Given the description of an element on the screen output the (x, y) to click on. 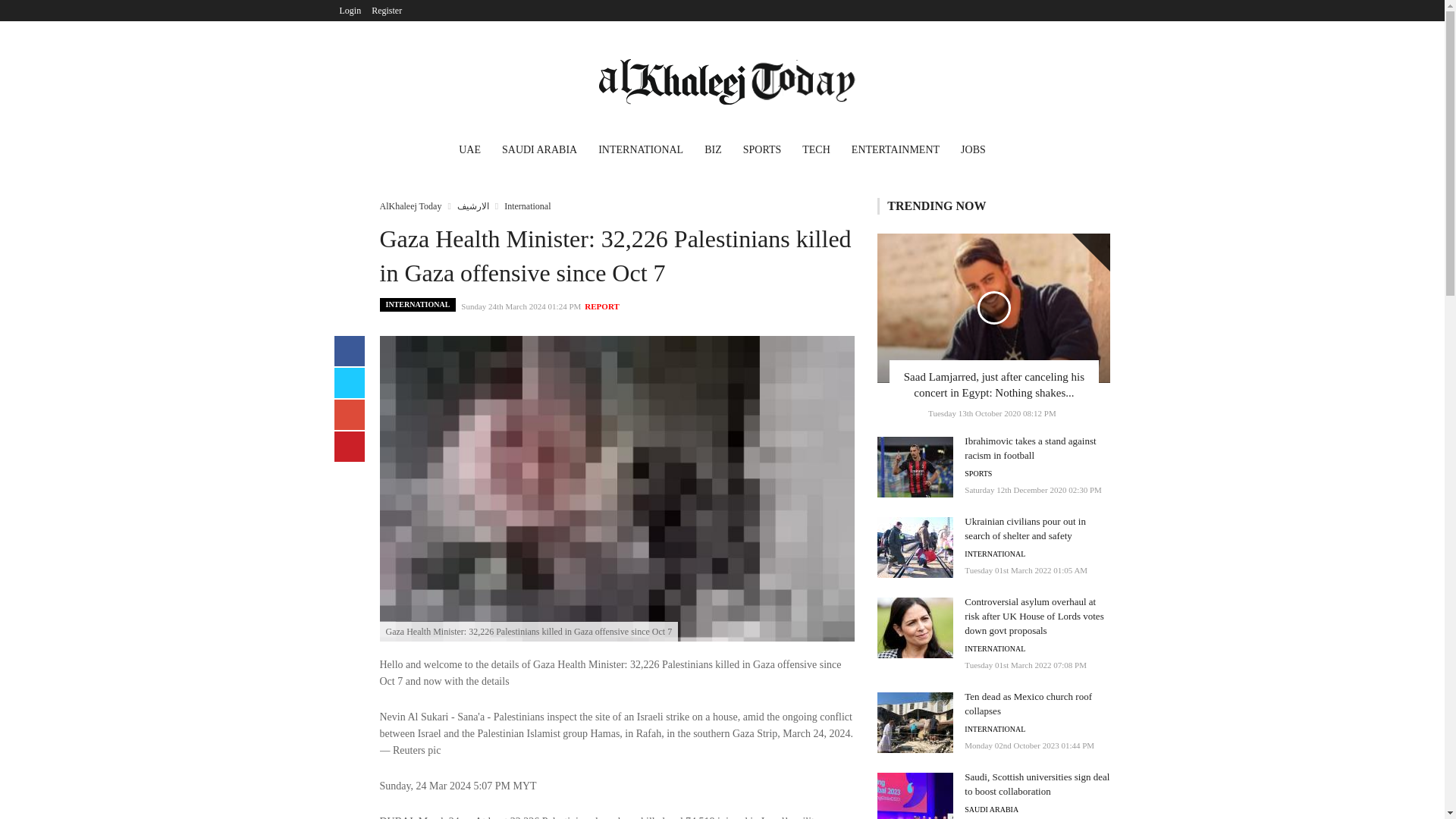
Login (349, 10)
TECH (816, 151)
REPORT (601, 306)
Register (386, 10)
JOBS (972, 151)
SPORTS (762, 151)
BIZ (713, 151)
International (526, 205)
INTERNATIONAL (641, 151)
UAE (470, 151)
